Given the description of an element on the screen output the (x, y) to click on. 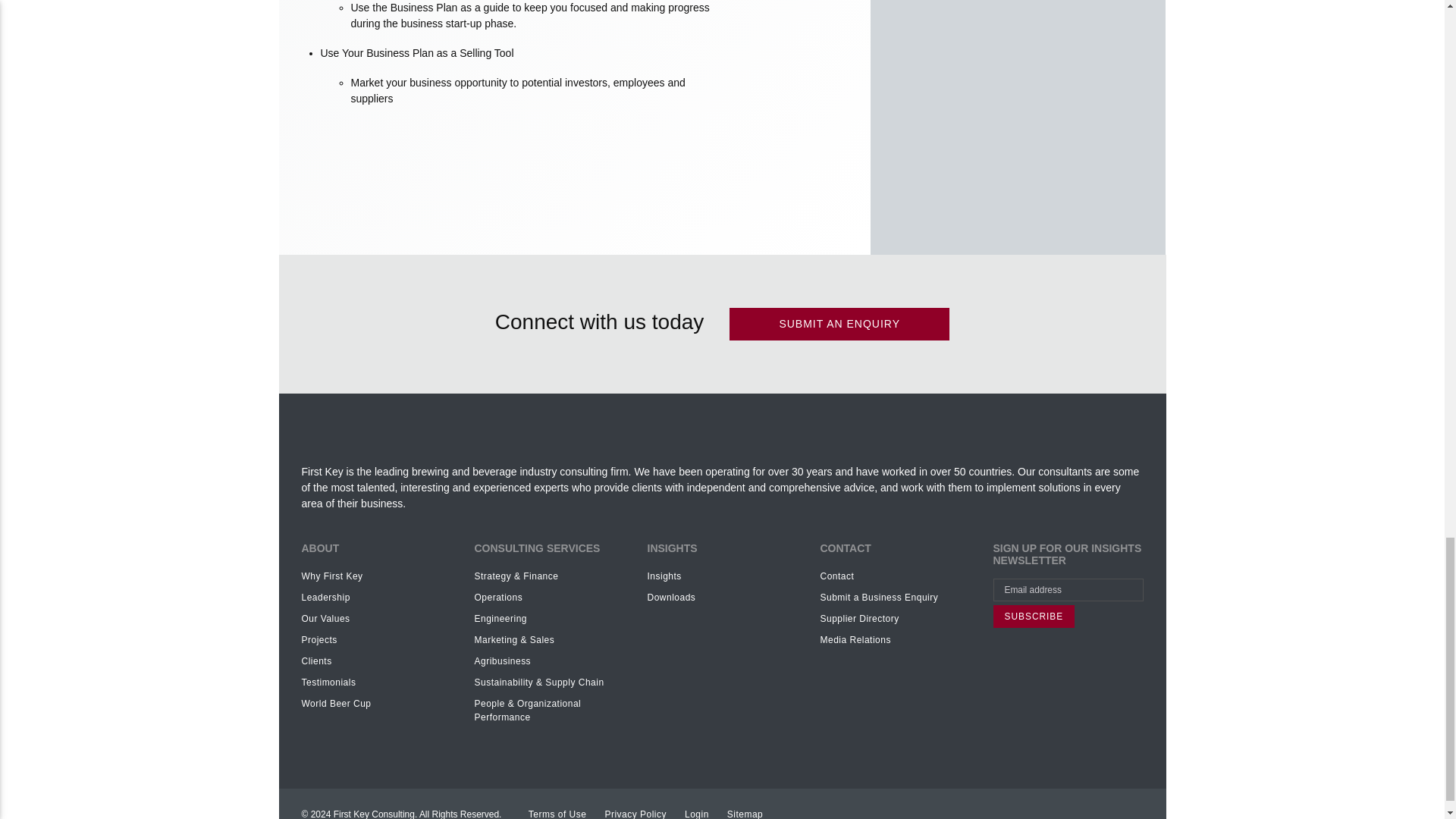
Subscribe (1033, 616)
